Given the description of an element on the screen output the (x, y) to click on. 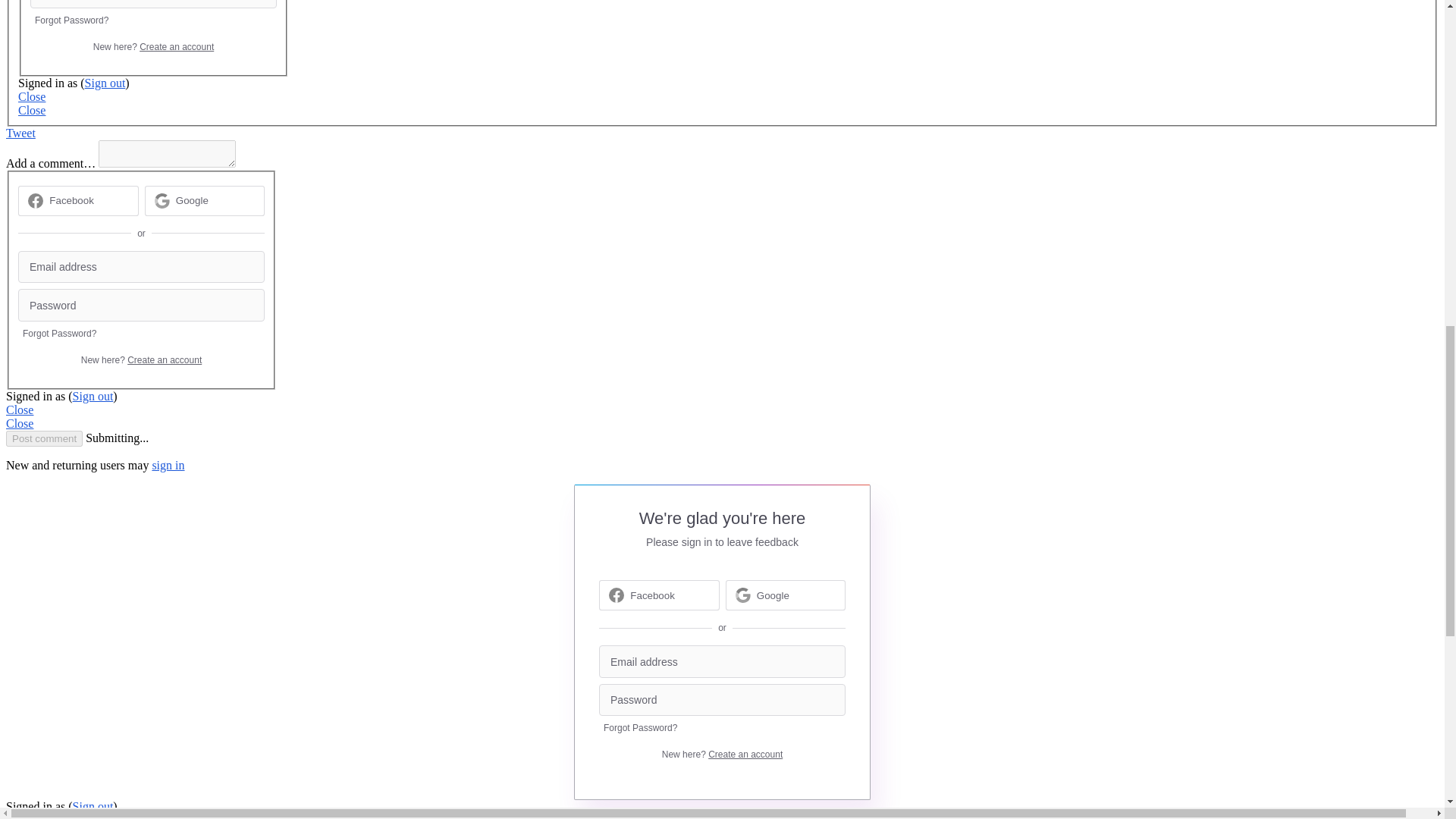
Sign out (104, 82)
Forgot Password? (71, 20)
Forgot Password? (58, 333)
Close (31, 96)
Close (31, 110)
Facebook (77, 200)
Facebook sign in (77, 200)
Google (204, 200)
Tweet (19, 132)
Facebook (71, 200)
Google (192, 200)
New here? Create an account (153, 46)
New here? Create an account (141, 359)
Google sign in (204, 200)
